Given the description of an element on the screen output the (x, y) to click on. 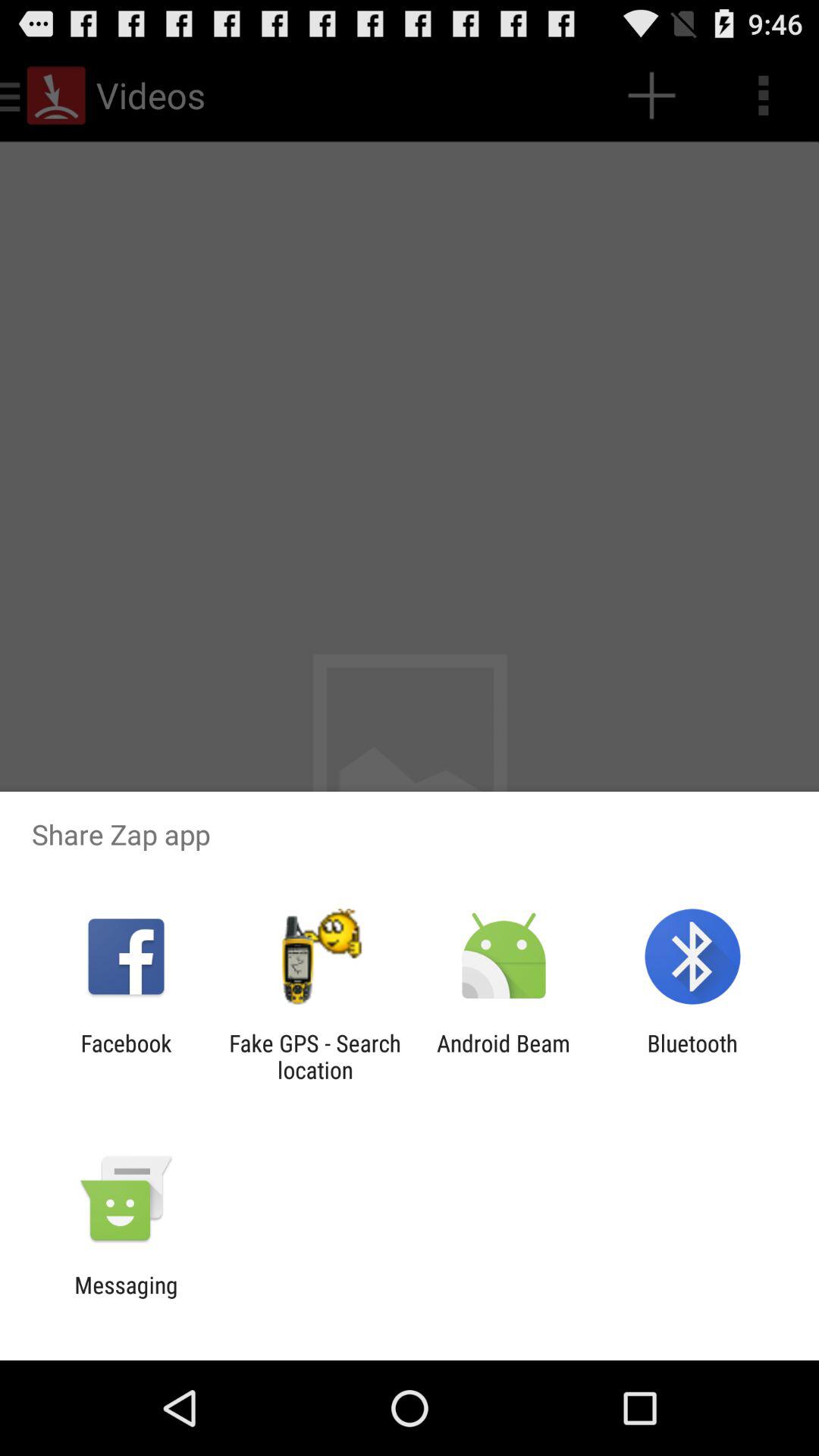
click the item next to the android beam item (314, 1056)
